Given the description of an element on the screen output the (x, y) to click on. 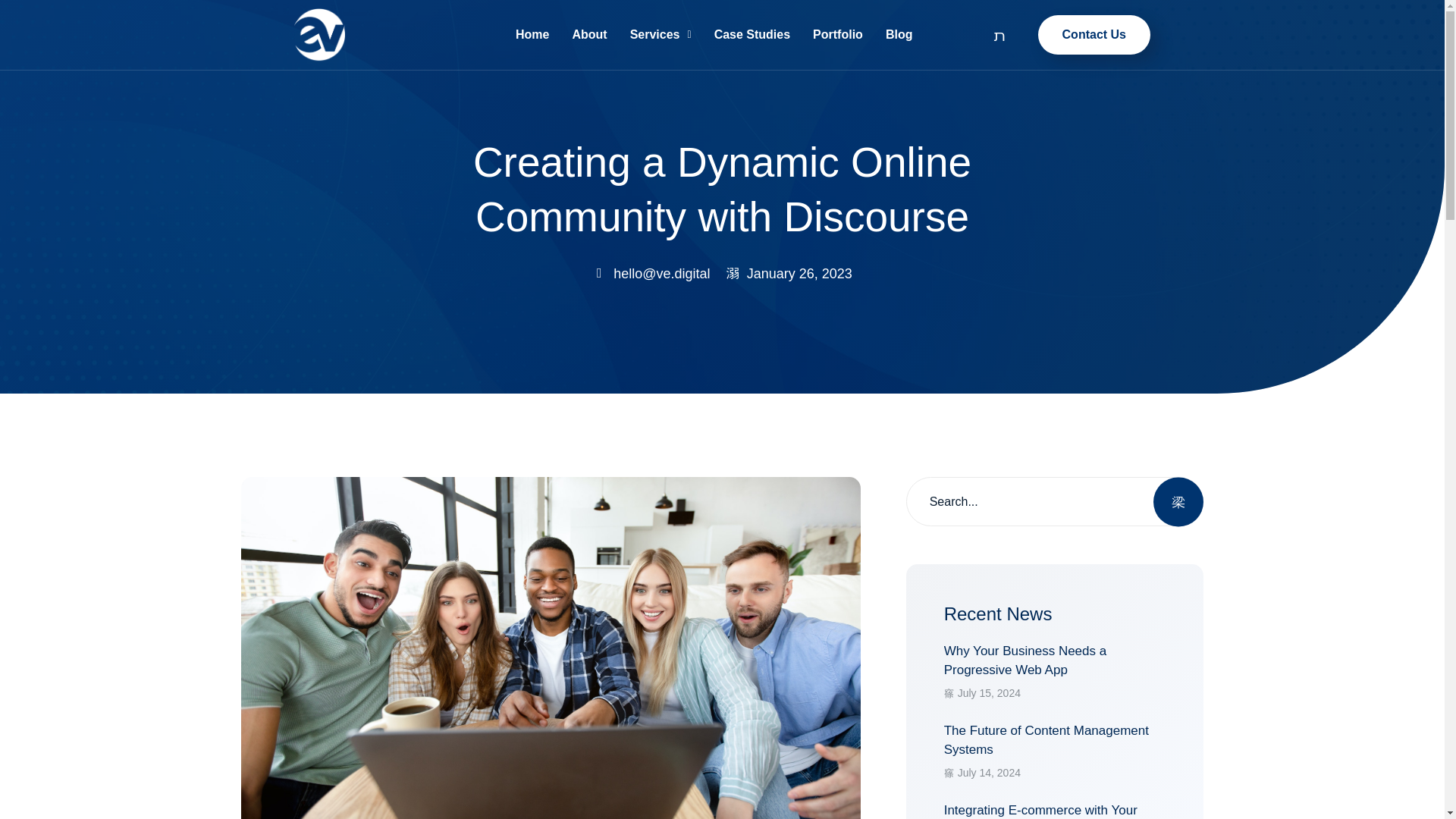
Services (660, 34)
Home (531, 34)
About (1054, 681)
Contact Us (588, 34)
Blog (1094, 34)
Portfolio (899, 34)
Case Studies (838, 34)
